Given the description of an element on the screen output the (x, y) to click on. 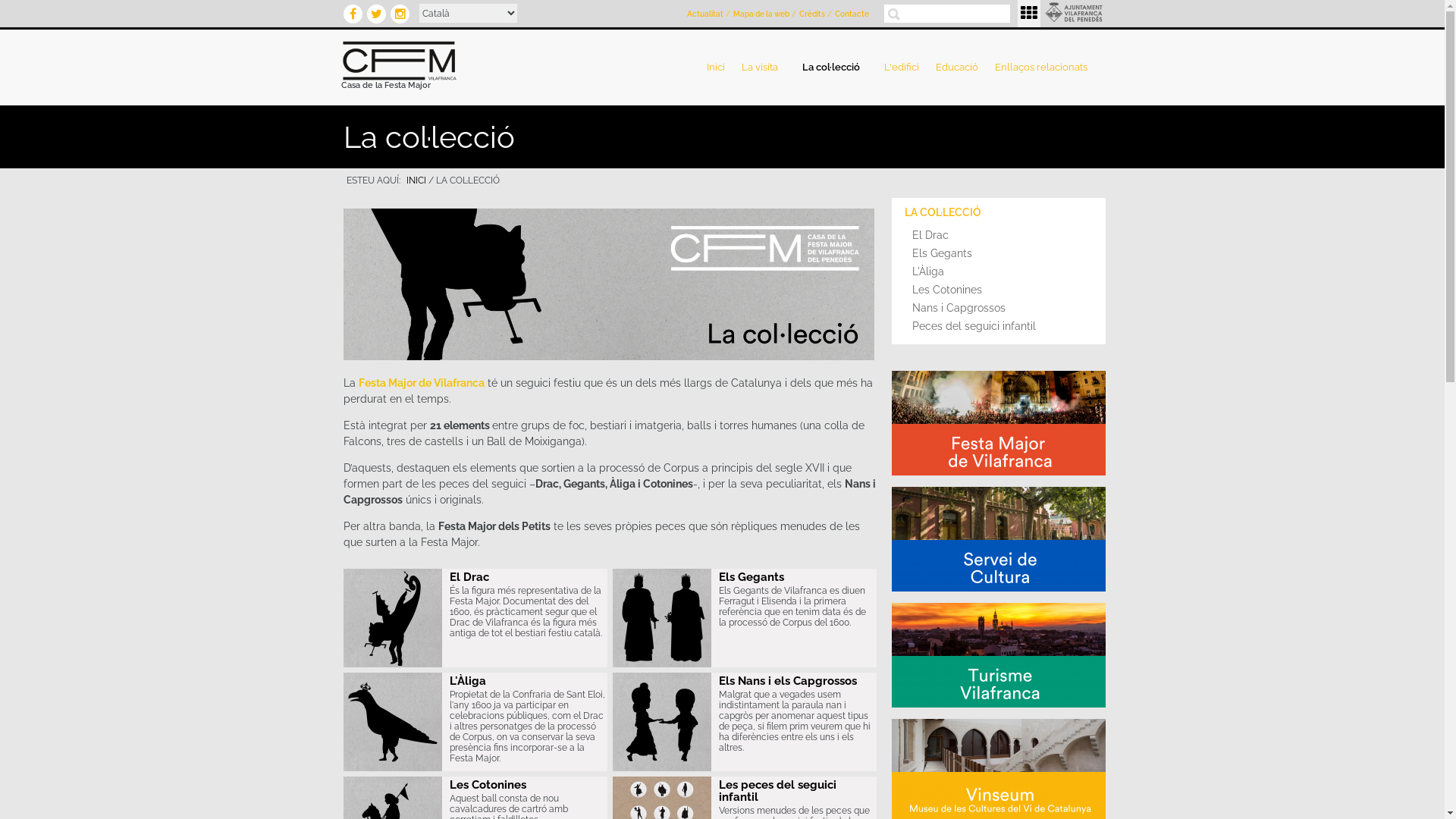
Contacte Element type: text (851, 14)
Inici Element type: text (715, 66)
Nans i Capgrossos Element type: text (998, 307)
Peces del seguici infantil Element type: text (998, 325)
Festa Major de Vilafranca Element type: hover (999, 422)
La visita Element type: text (763, 66)
El Drac Element type: text (998, 234)
INICI Element type: text (416, 180)
Turisme Vilafranca Element type: hover (999, 654)
Servei de Cultura Element type: hover (999, 538)
Festa Major de Vilafranca Element type: text (420, 382)
Inici Element type: hover (492, 60)
Els Gegants Element type: text (998, 252)
Nans i Capgrossos Element type: hover (661, 721)
Actualitat Element type: text (705, 14)
Les Cotonines Element type: text (998, 289)
Mapa de la web Element type: text (761, 14)
L'edifici Element type: text (901, 66)
